Given the description of an element on the screen output the (x, y) to click on. 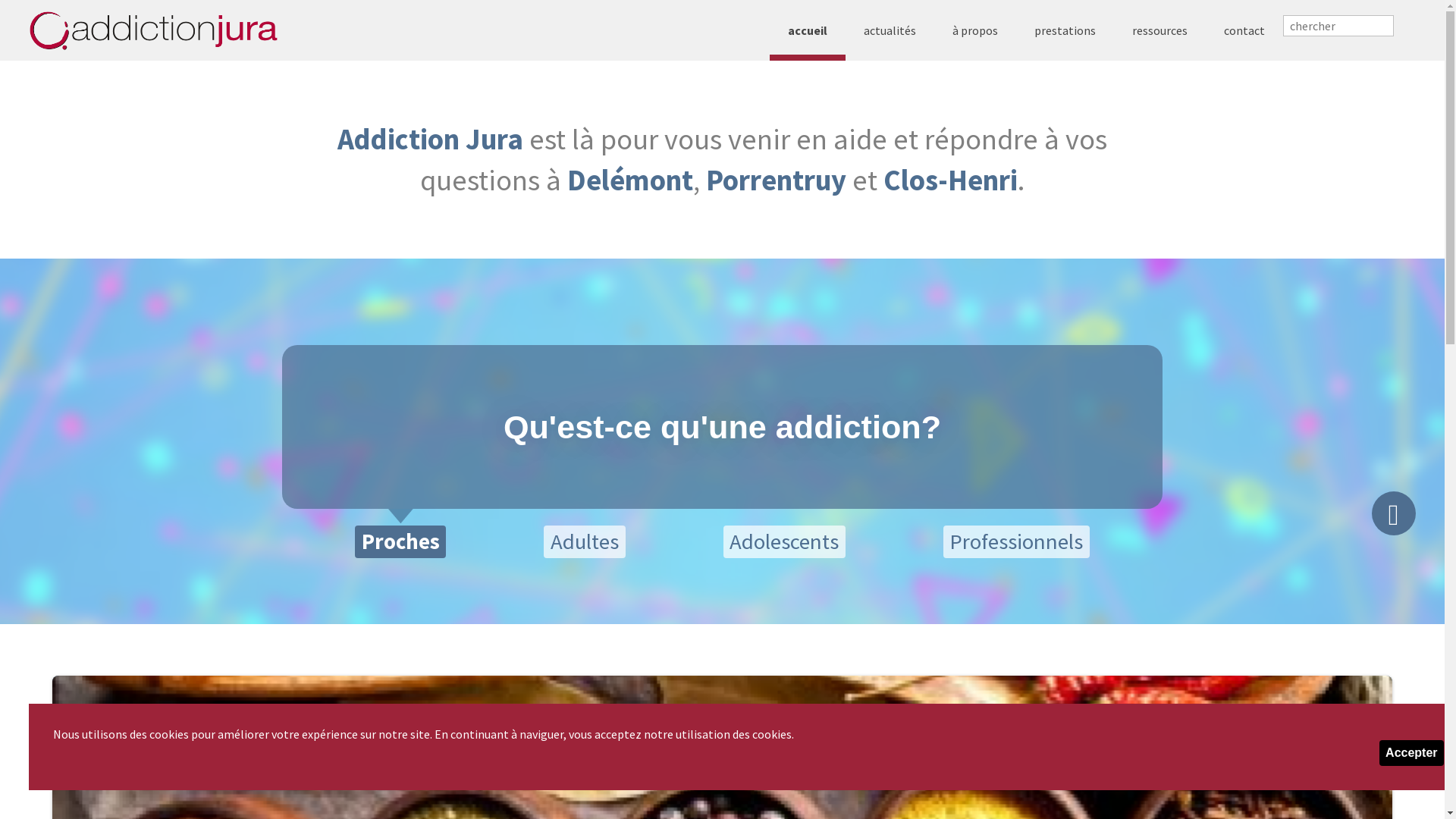
Qu'est-ce qu'une addiction? Element type: text (722, 426)
ressources Element type: text (1159, 30)
Professionnels Element type: text (1016, 541)
accueil Element type: text (807, 30)
Accepter Element type: text (1411, 752)
Proches Element type: text (399, 541)
Adolescents Element type: text (784, 541)
Porrentruy Element type: text (775, 179)
contact Element type: text (1244, 30)
Clos-Henri Element type: text (949, 179)
Adultes Element type: text (583, 541)
Addiction Jura Element type: text (430, 138)
addiction Element type: text (153, 30)
prestations Element type: text (1064, 30)
